Given the description of an element on the screen output the (x, y) to click on. 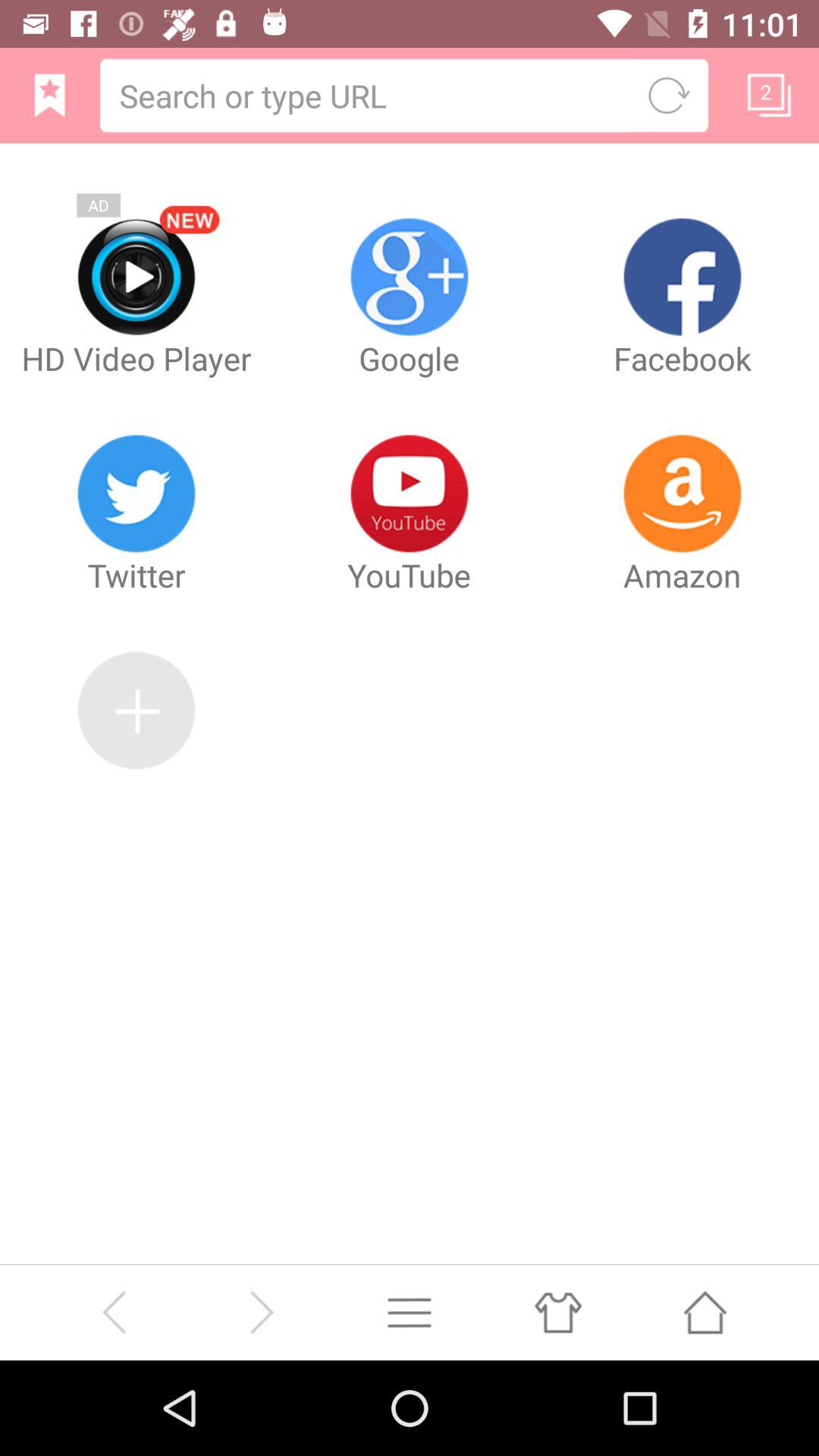
search (369, 95)
